Given the description of an element on the screen output the (x, y) to click on. 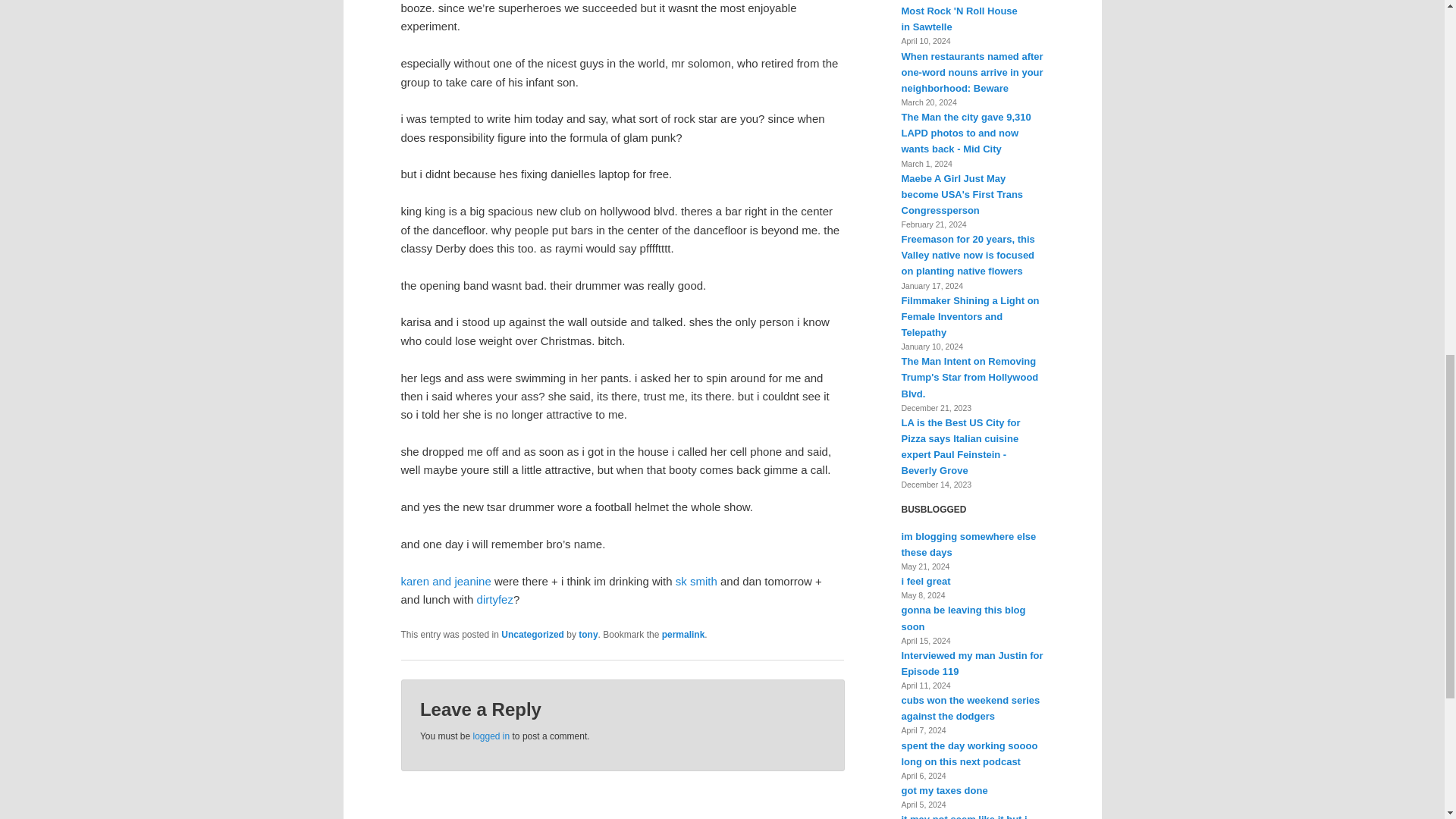
permalink (683, 634)
Uncategorized (532, 634)
Permalink to tsar (683, 634)
dirtyfez (495, 599)
sk smith (696, 581)
logged in (490, 736)
tony (587, 634)
karen and jeanine (445, 581)
